Given the description of an element on the screen output the (x, y) to click on. 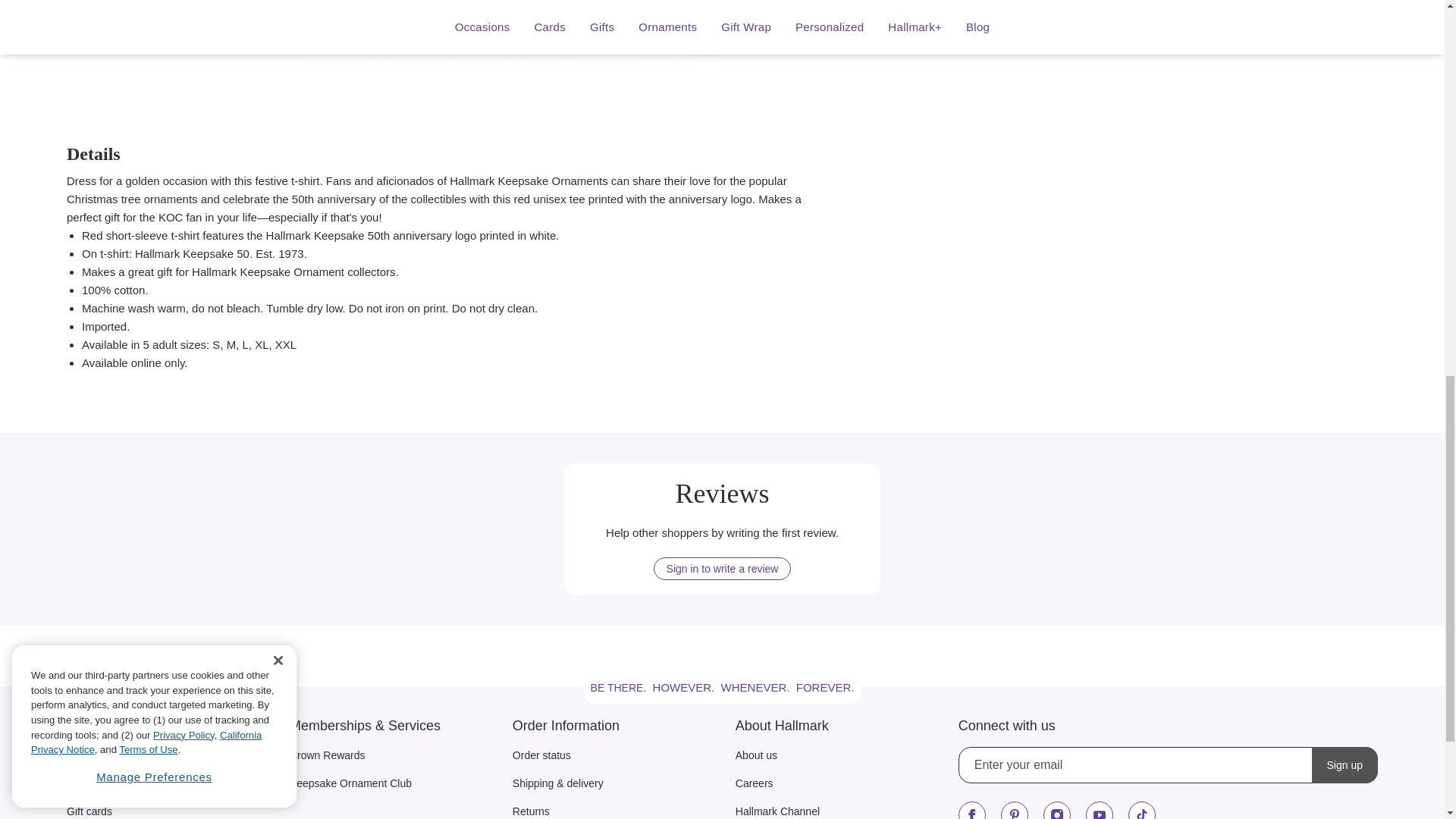
SALE (504, 57)
